Given the description of an element on the screen output the (x, y) to click on. 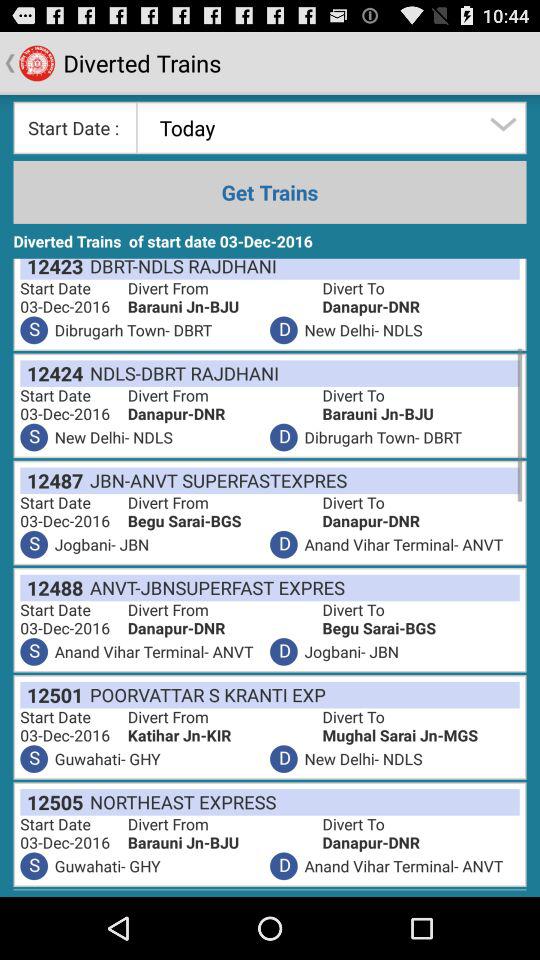
swipe to 12424 item (51, 373)
